Given the description of an element on the screen output the (x, y) to click on. 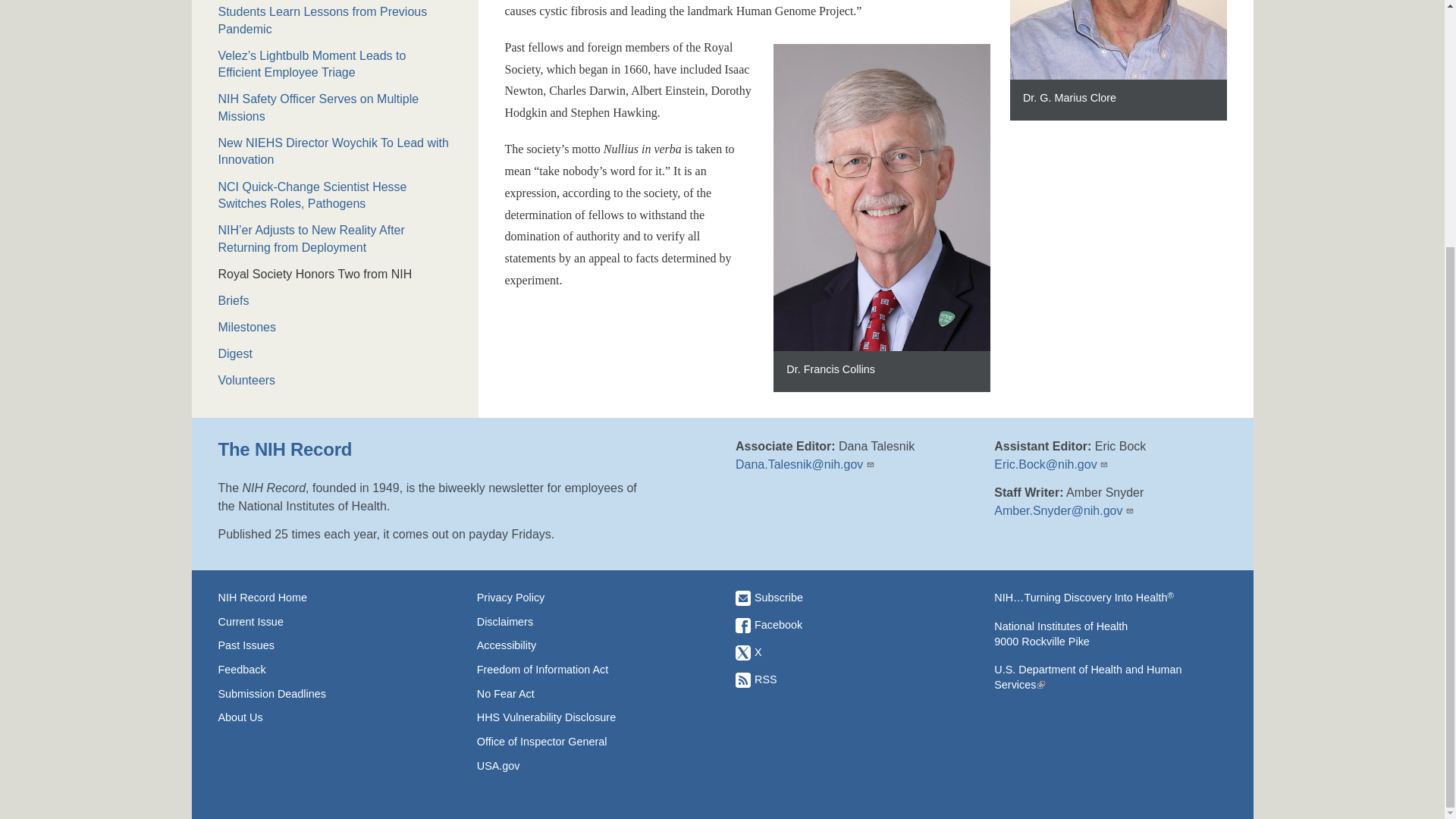
NCI Quick-Change Scientist Hesse Switches Roles, Pathogens (334, 195)
Volunteers (334, 380)
Students Learn Lessons from Previous Pandemic (334, 20)
Feedback (333, 669)
Current Issue (333, 621)
Briefs (334, 300)
Submission Deadlines (333, 693)
Royal Society Honors Two from NIH (334, 274)
NIH Safety Officer Serves on Multiple Missions (334, 107)
Past Issues (333, 645)
